Given the description of an element on the screen output the (x, y) to click on. 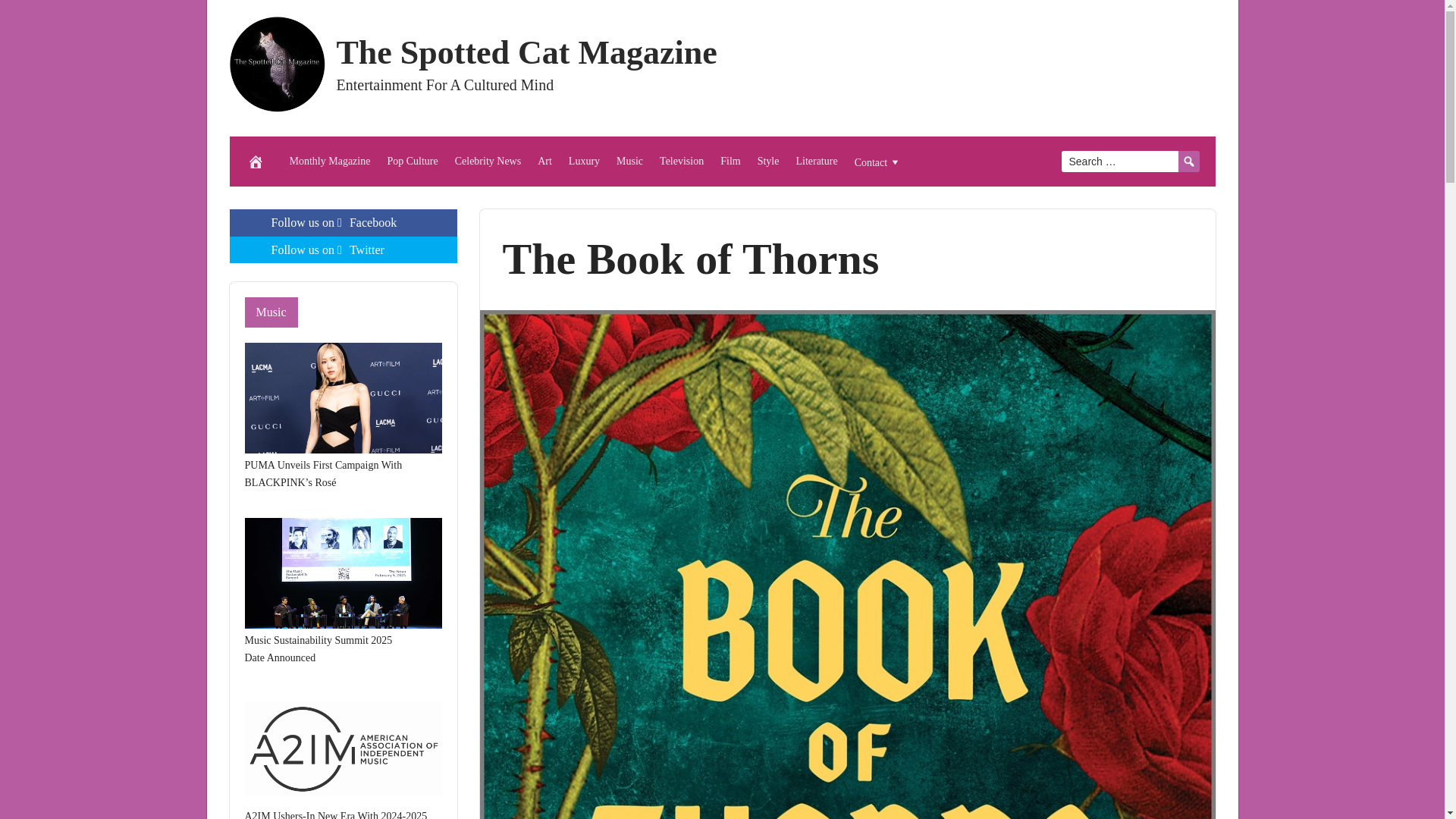
Monthly Magazine (329, 161)
Art (544, 161)
Literature (816, 161)
Style (768, 161)
Contact (878, 161)
Film (729, 161)
Television (680, 161)
Celebrity News (487, 161)
Luxury (584, 161)
Music (629, 161)
Pop Culture (411, 161)
The Spotted Cat Magazine (526, 52)
